Given the description of an element on the screen output the (x, y) to click on. 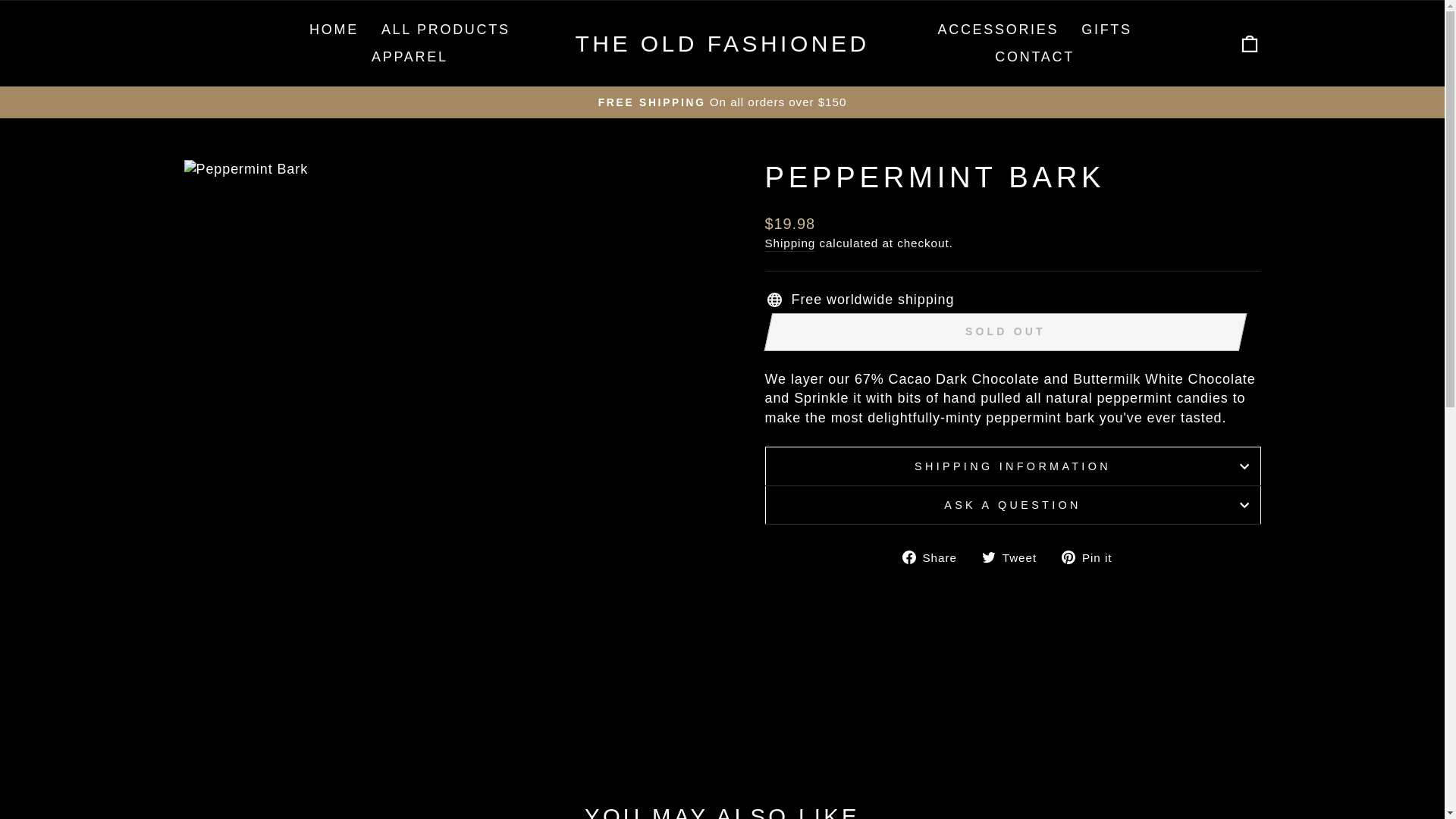
Shipping (789, 243)
twitter (988, 557)
Share on Facebook (935, 556)
ALL PRODUCTS (445, 29)
CONTACT (1014, 556)
HOME (1035, 58)
SHIPPING INFORMATION (935, 556)
